Given the description of an element on the screen output the (x, y) to click on. 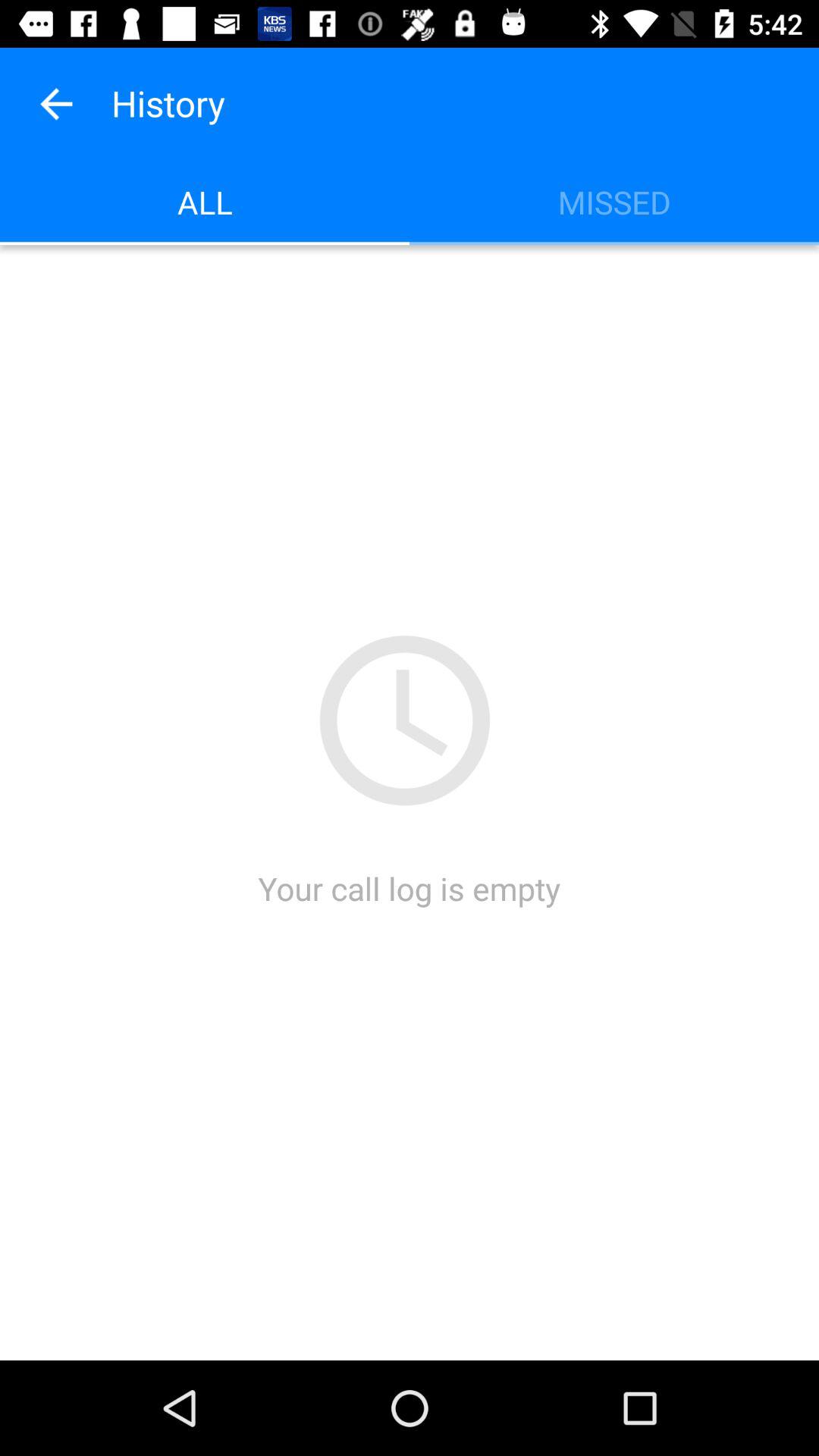
open missed (614, 202)
